Given the description of an element on the screen output the (x, y) to click on. 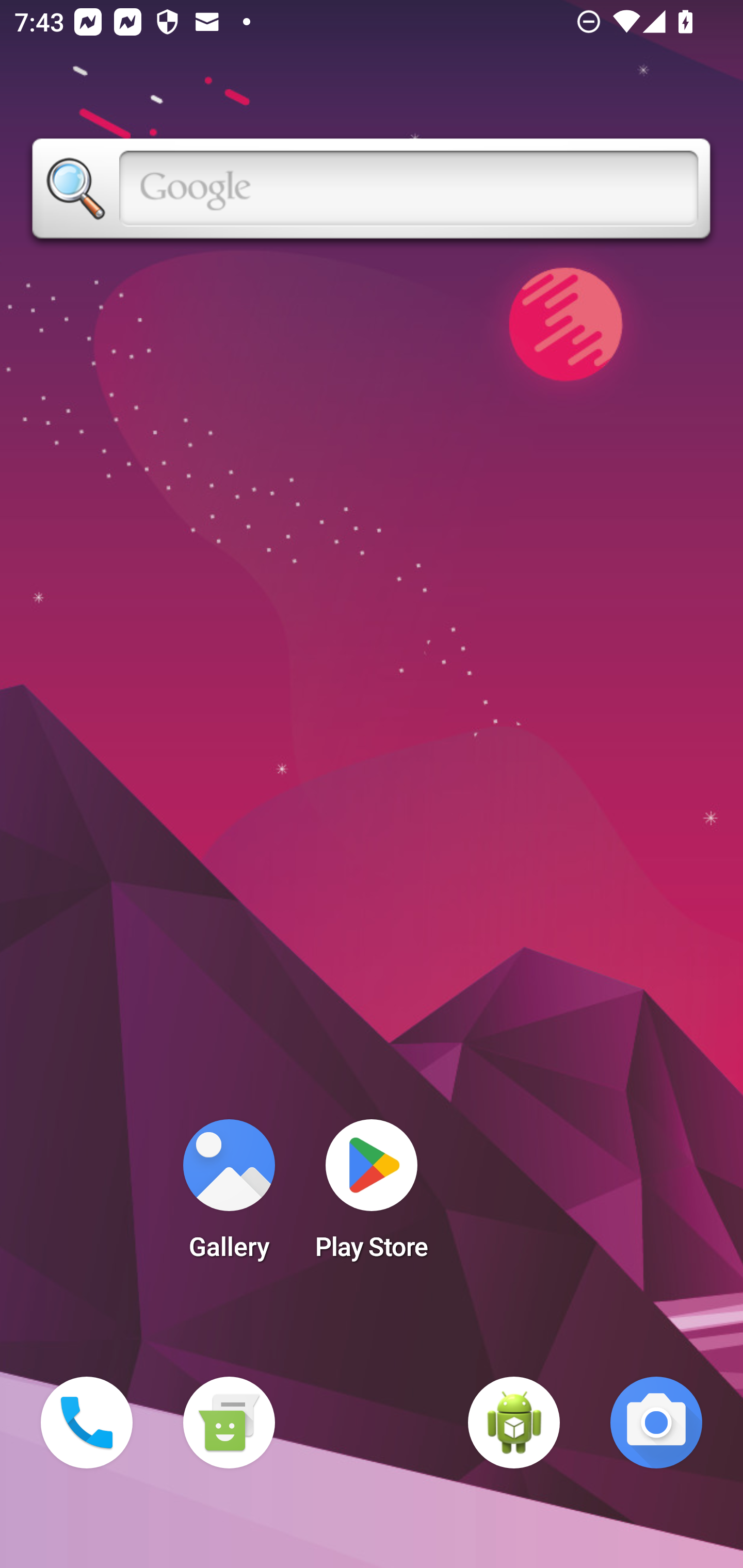
Gallery (228, 1195)
Play Store (371, 1195)
Phone (86, 1422)
Messaging (228, 1422)
WebView Browser Tester (513, 1422)
Camera (656, 1422)
